Given the description of an element on the screen output the (x, y) to click on. 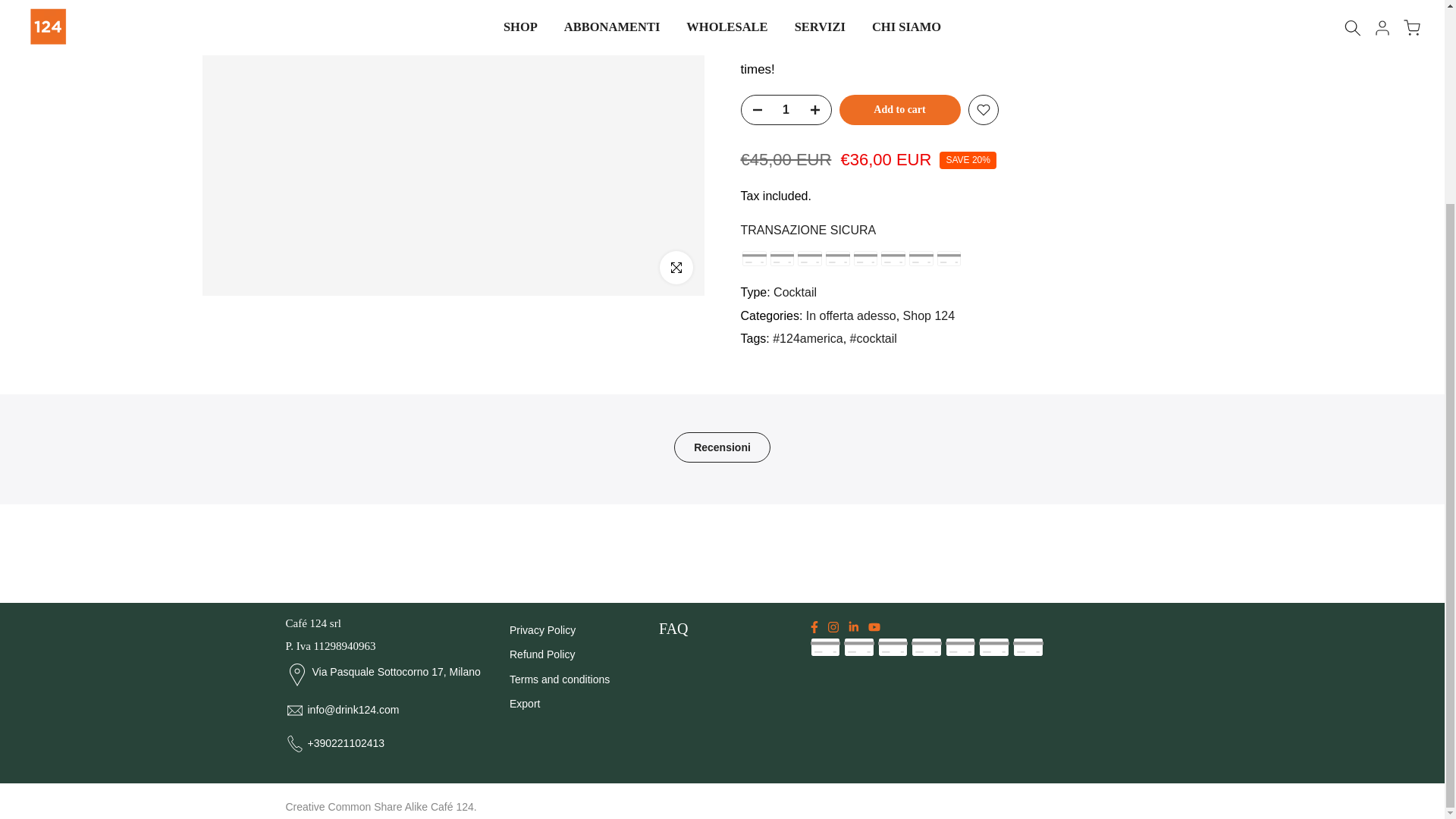
Creative Common Share Alike (356, 806)
1 (786, 105)
Export (524, 703)
Cocktail  (794, 287)
Add to cart (898, 105)
Shop 124 (928, 311)
Cocktail (794, 287)
Refund Policy (542, 654)
Privacy Policy (542, 630)
Terms and conditions (559, 679)
Recensioni (722, 447)
In offerta adesso (851, 311)
